Given the description of an element on the screen output the (x, y) to click on. 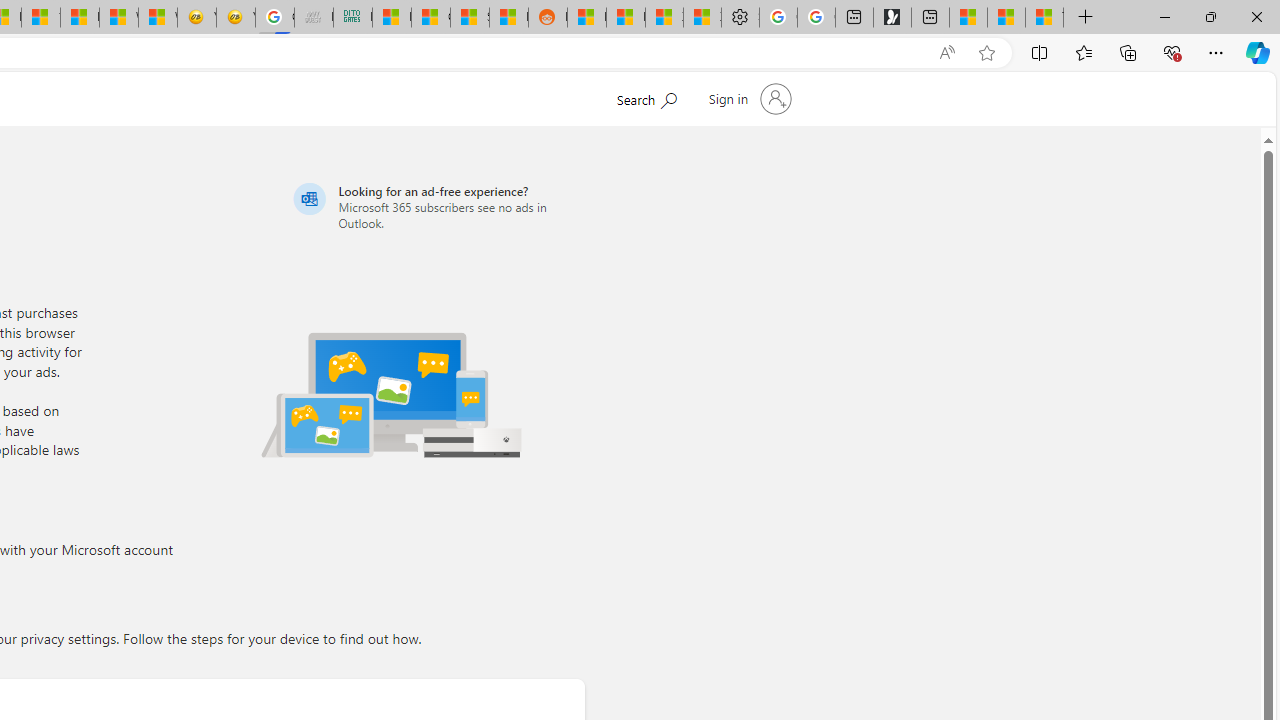
R******* | Trusted Community Engagement and Contributions (586, 17)
These 3 Stocks Pay You More Than 5% to Own Them (1044, 17)
Looking for an ad-free experience? (436, 206)
Sign in to your account (748, 98)
Search Microsoft.com (646, 97)
